Given the description of an element on the screen output the (x, y) to click on. 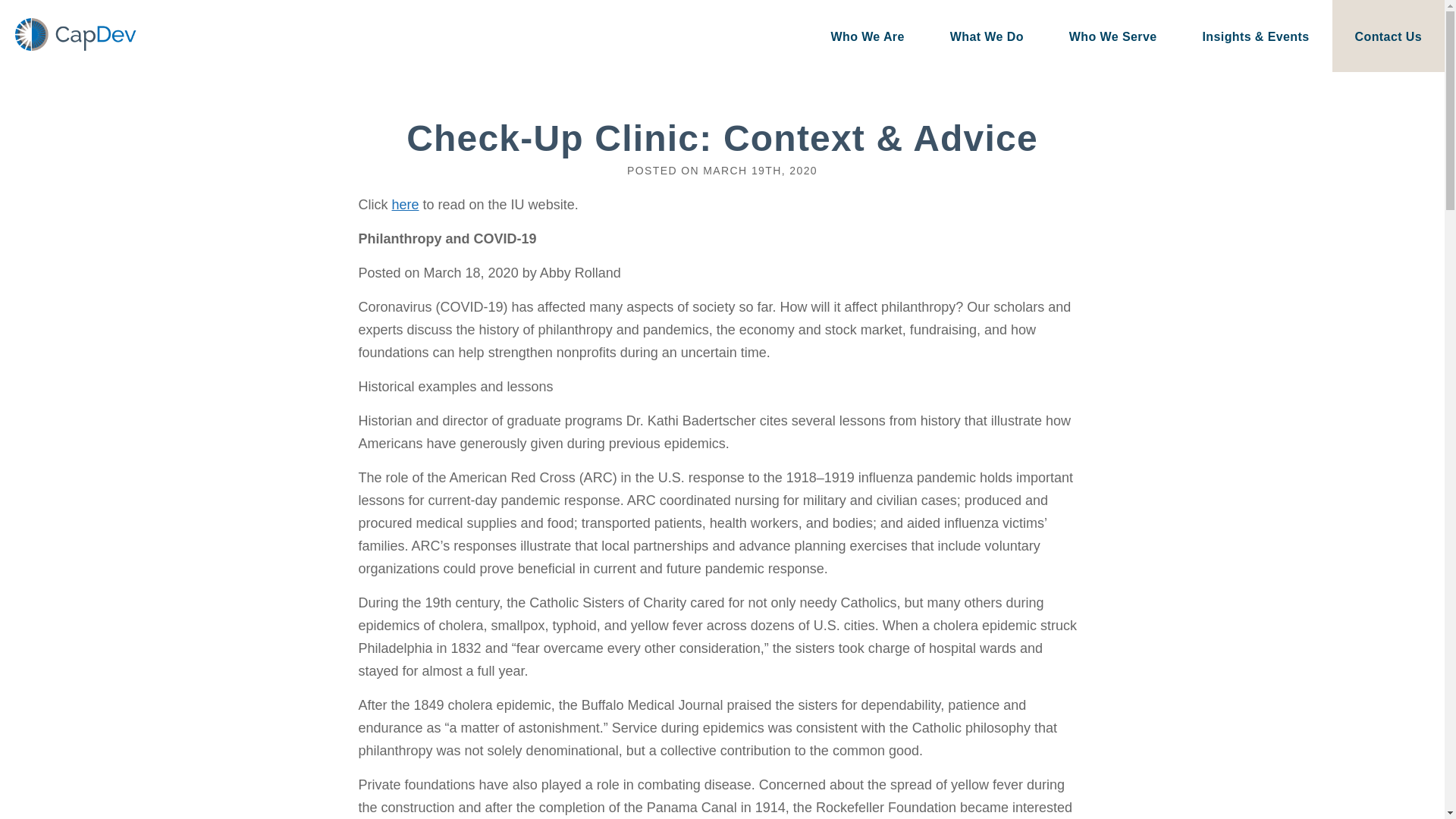
here (405, 204)
Who We Are (867, 36)
Who We Serve (1112, 36)
What We Do (986, 36)
